Given the description of an element on the screen output the (x, y) to click on. 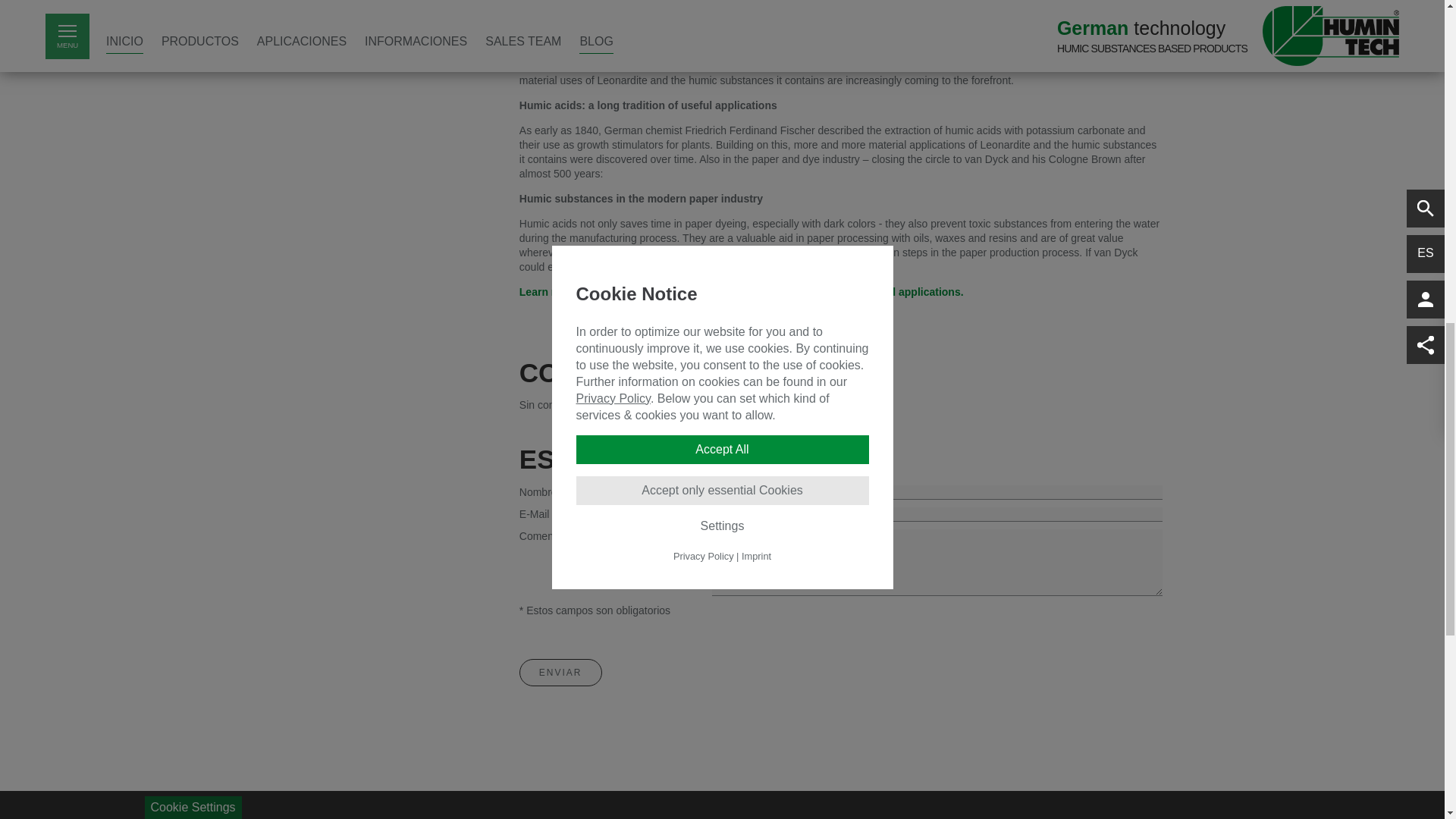
ENVIAR (560, 672)
